Given the description of an element on the screen output the (x, y) to click on. 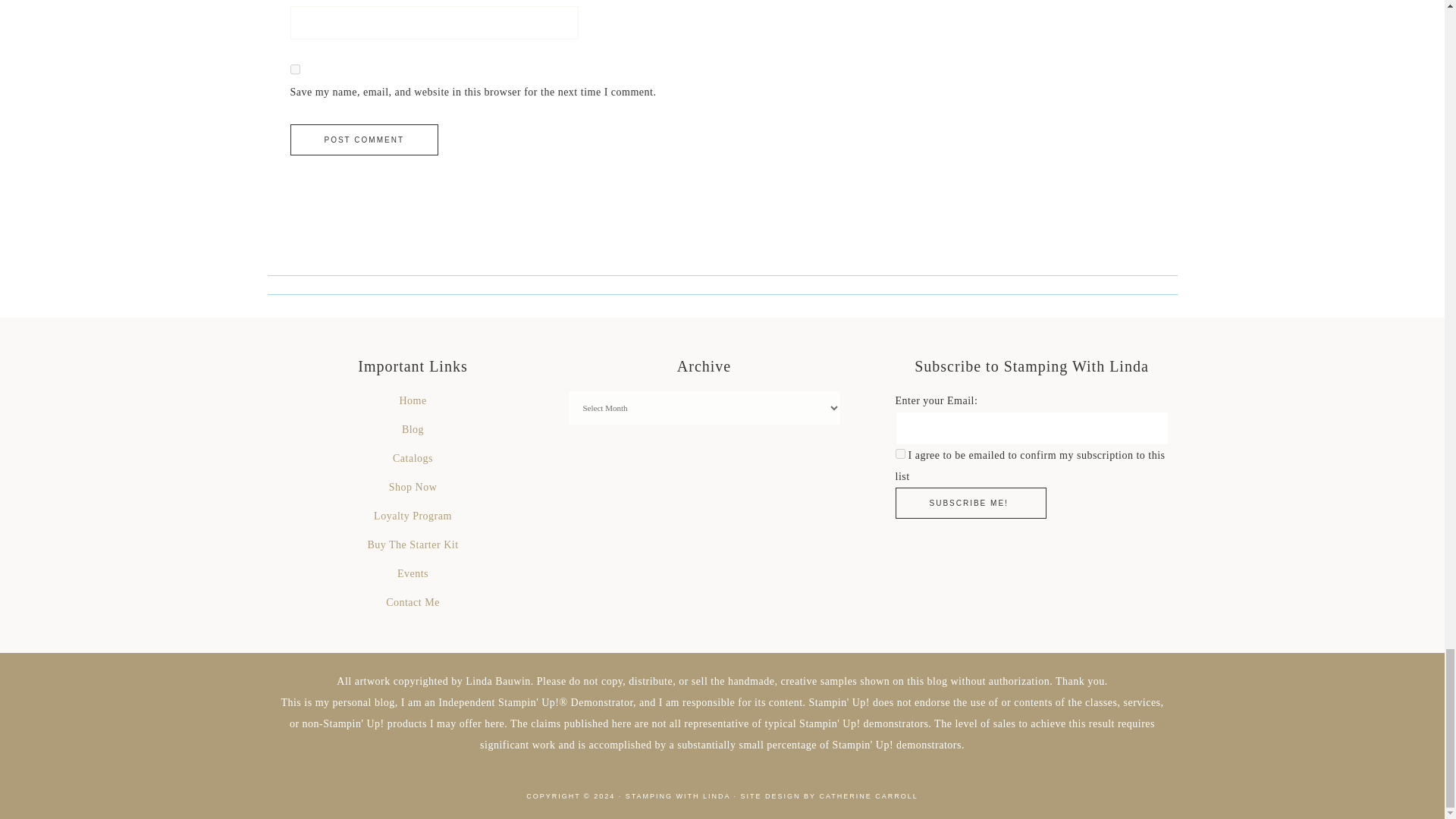
yes (294, 69)
on (899, 453)
Subscribe me!  (970, 502)
Post Comment (363, 139)
